Given the description of an element on the screen output the (x, y) to click on. 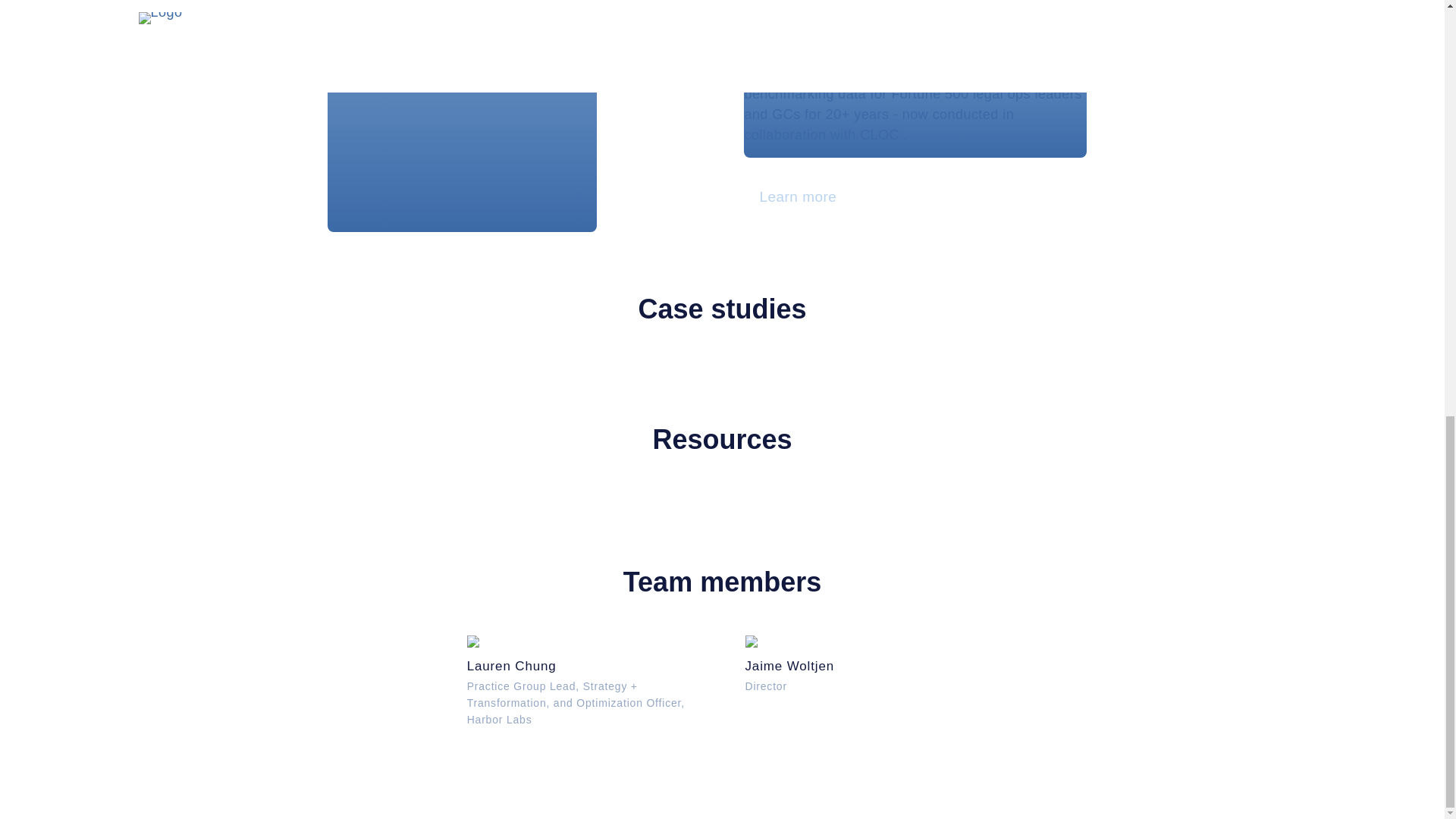
Learn more (860, 664)
